Given the description of an element on the screen output the (x, y) to click on. 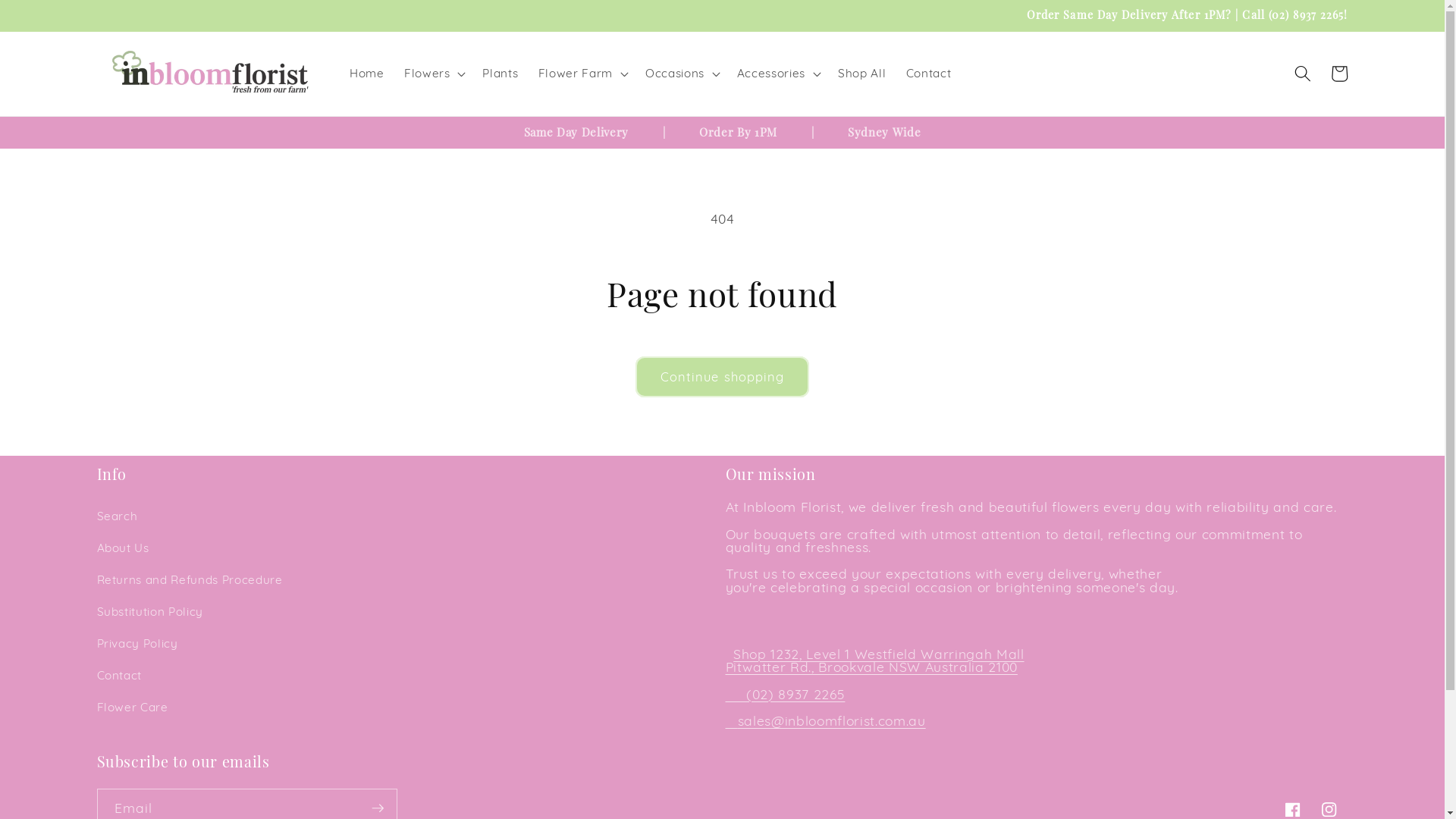
Flower Care Element type: text (132, 707)
Search Element type: text (117, 516)
Substitution Policy Element type: text (150, 611)
Contact Element type: text (927, 73)
sales@inbloomflorist.com.au Element type: text (831, 720)
Home Element type: text (366, 73)
Shop All Element type: text (862, 73)
Returns and Refunds Procedure Element type: text (189, 580)
Continue shopping Element type: text (722, 376)
Privacy Policy Element type: text (137, 643)
Cart Element type: text (1339, 73)
About Us Element type: text (123, 548)
Plants Element type: text (499, 73)
Contact Element type: text (119, 675)
